Given the description of an element on the screen output the (x, y) to click on. 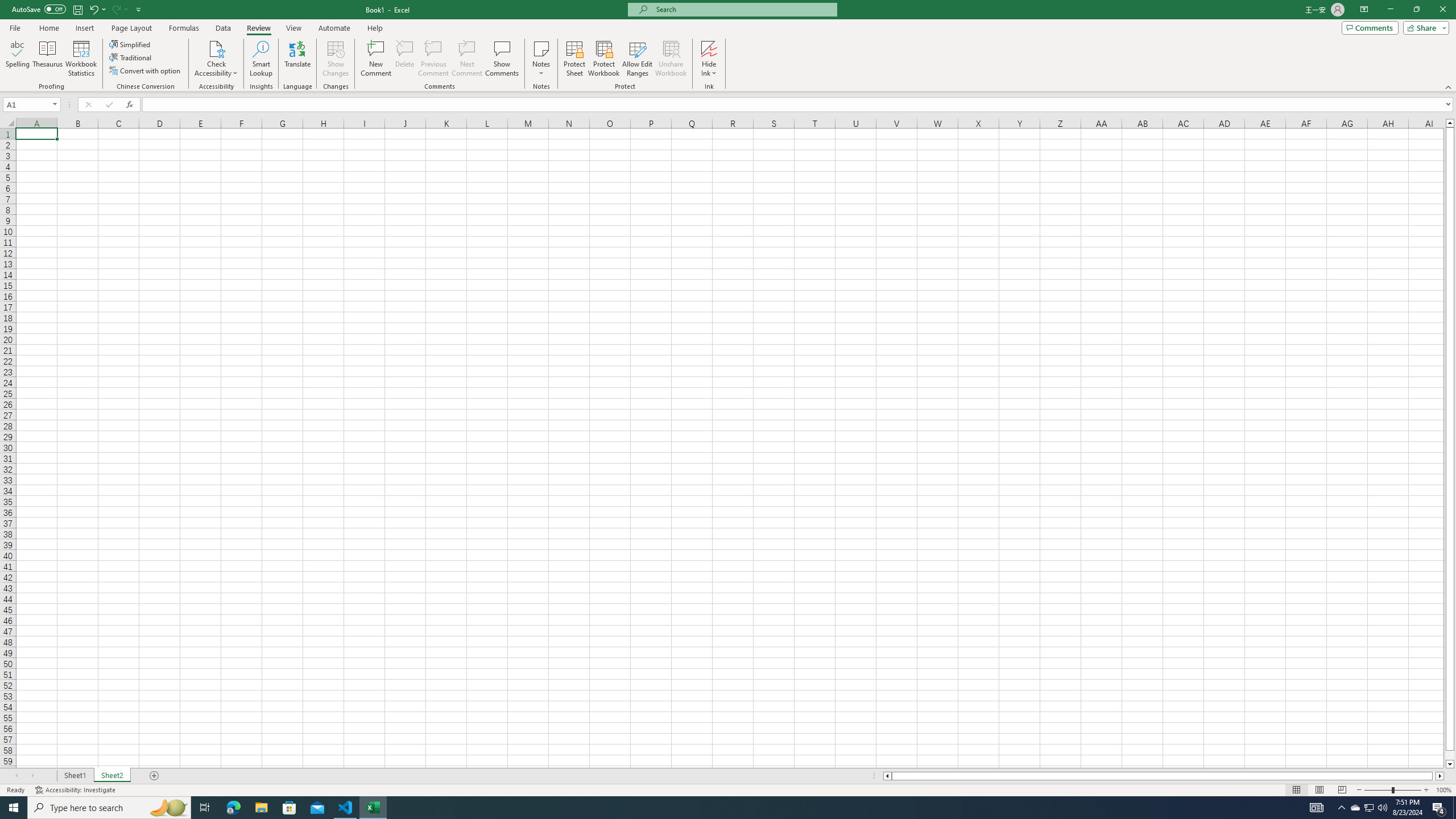
Translate (297, 58)
Class: MsoCommandBar (728, 45)
Simplified (130, 44)
Allow Edit Ranges (637, 58)
